Given the description of an element on the screen output the (x, y) to click on. 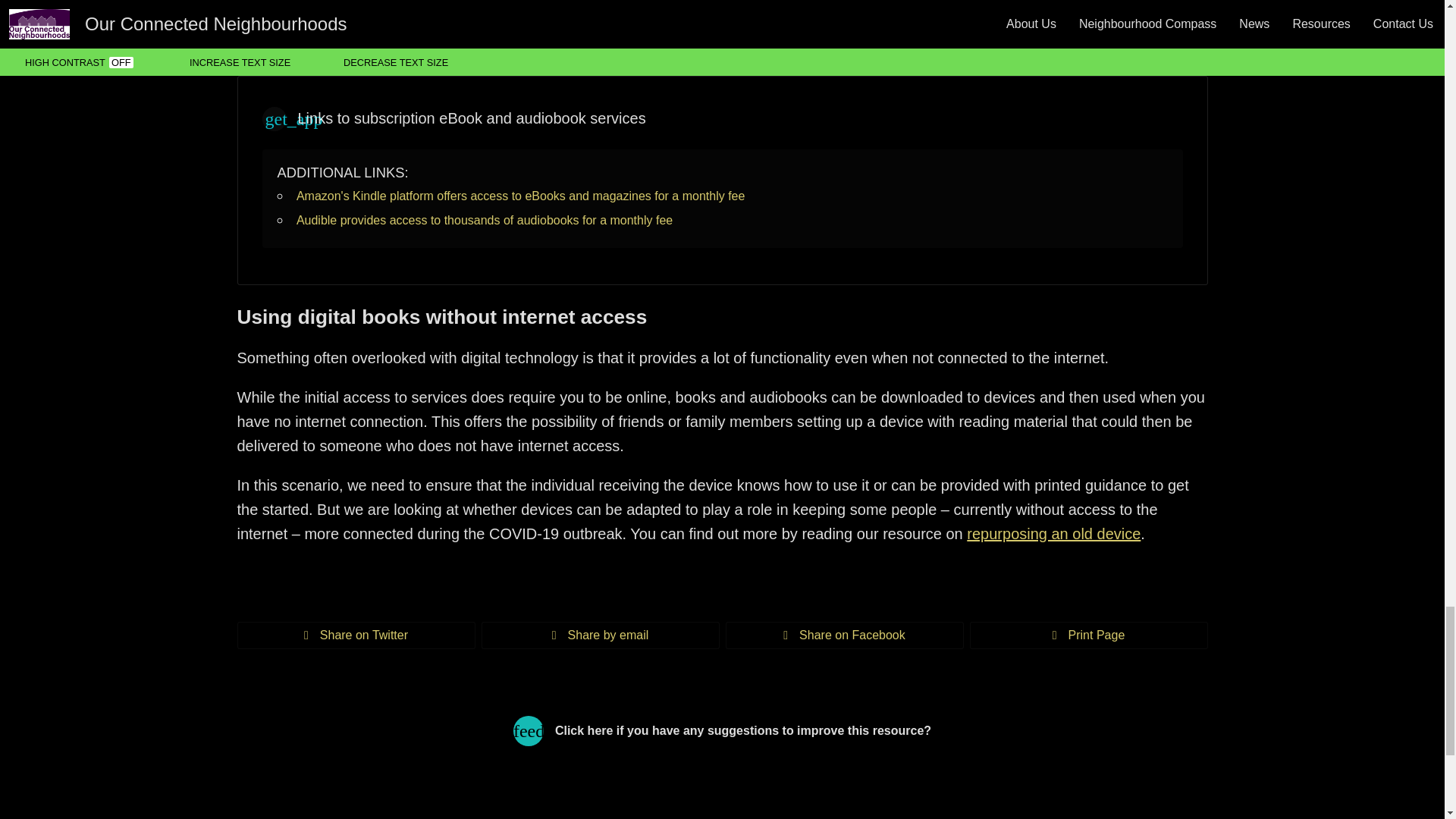
repurposing an old device (1053, 533)
Share by email (599, 635)
Share on Twitter (354, 635)
Share on Facebook (843, 635)
